Given the description of an element on the screen output the (x, y) to click on. 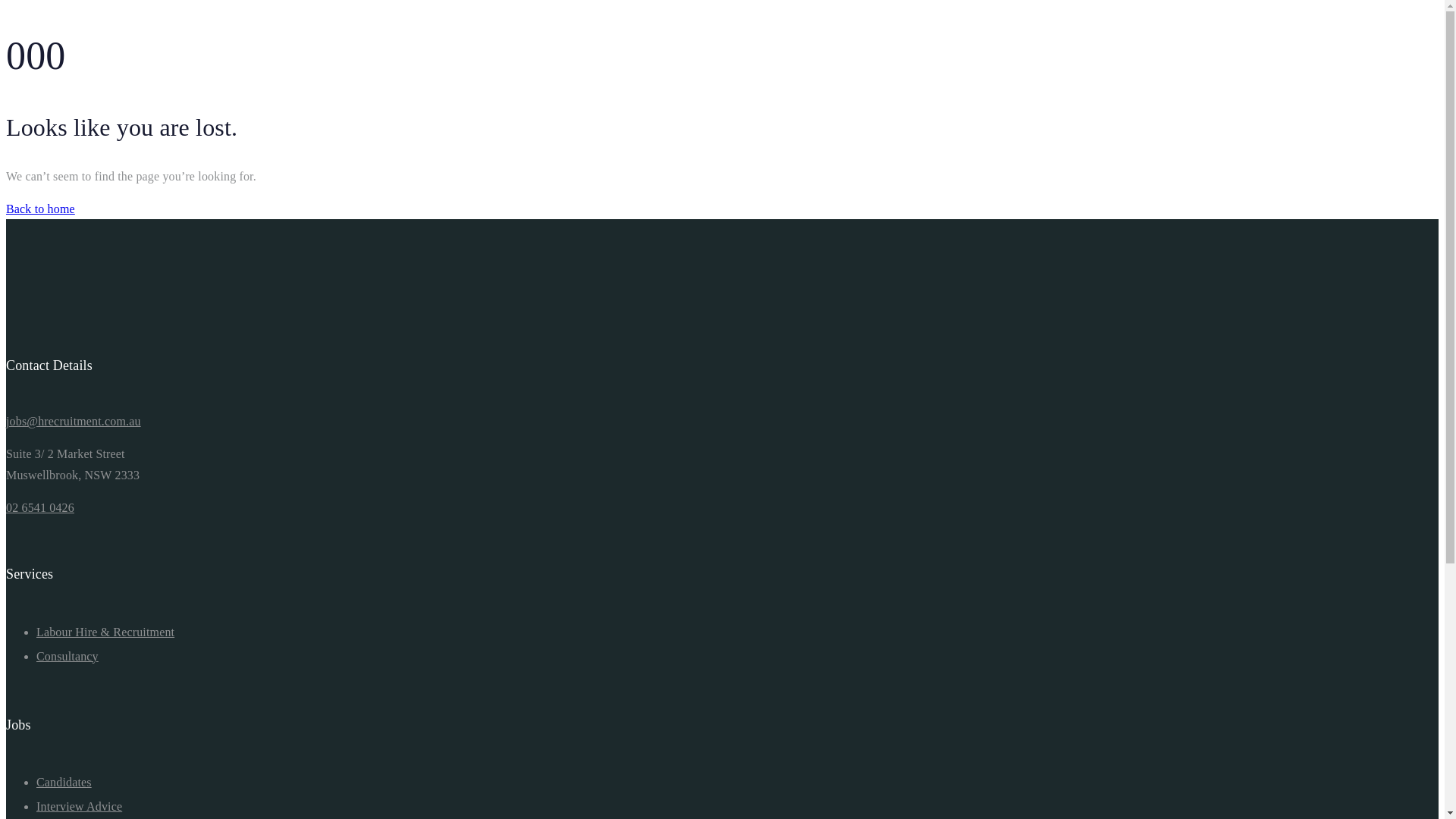
Back to home Element type: text (40, 208)
Labour Hire & Recruitment Element type: text (105, 631)
Candidates Element type: text (63, 781)
Consultancy Element type: text (67, 655)
jobs@hrecruitment.com.au Element type: text (73, 420)
Interview Advice Element type: text (79, 806)
logo-hr-01 Element type: hover (82, 304)
02 6541 0426 Element type: text (40, 507)
